Given the description of an element on the screen output the (x, y) to click on. 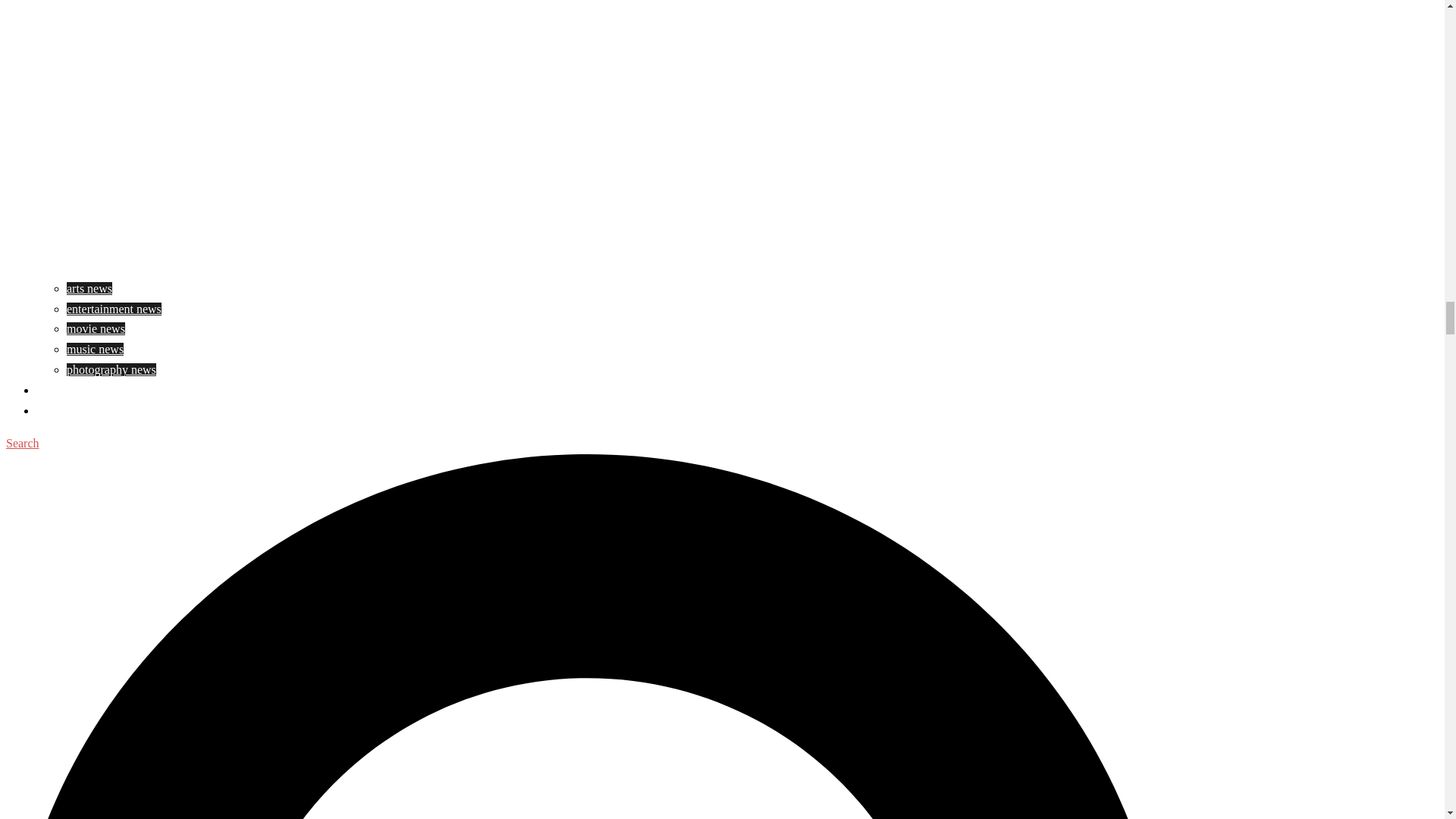
photography news (110, 369)
movie news (95, 328)
arts news (89, 287)
Contact Us (63, 410)
music news (94, 349)
entertainment news (113, 308)
General Article (73, 390)
